Given the description of an element on the screen output the (x, y) to click on. 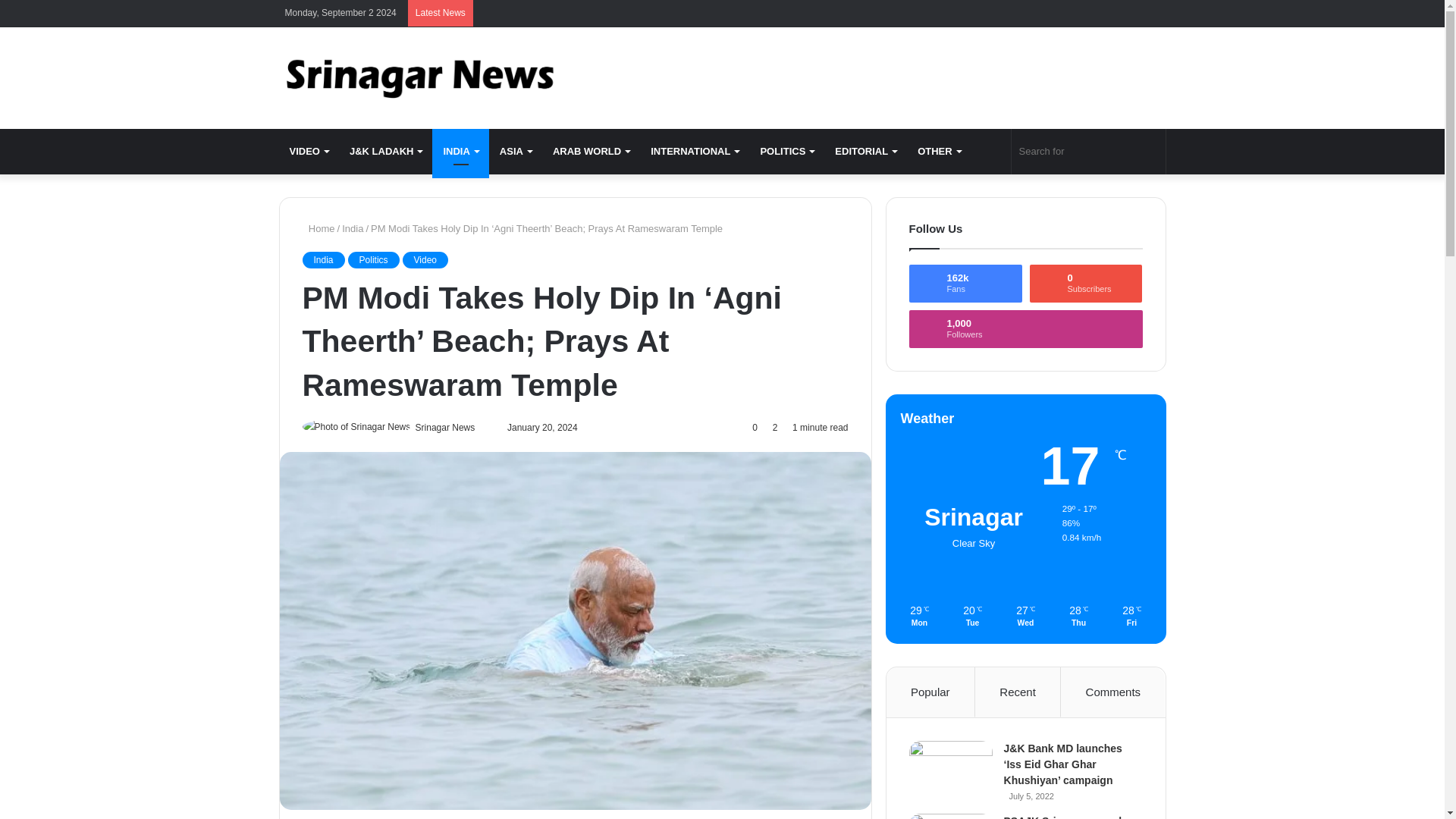
POLITICS (786, 151)
ARAB WORLD (590, 151)
OTHER (939, 151)
INDIA (459, 151)
INTERNATIONAL (694, 151)
Search for (1088, 151)
Srinagar News (419, 77)
EDITORIAL (865, 151)
VIDEO (309, 151)
ASIA (515, 151)
